Given the description of an element on the screen output the (x, y) to click on. 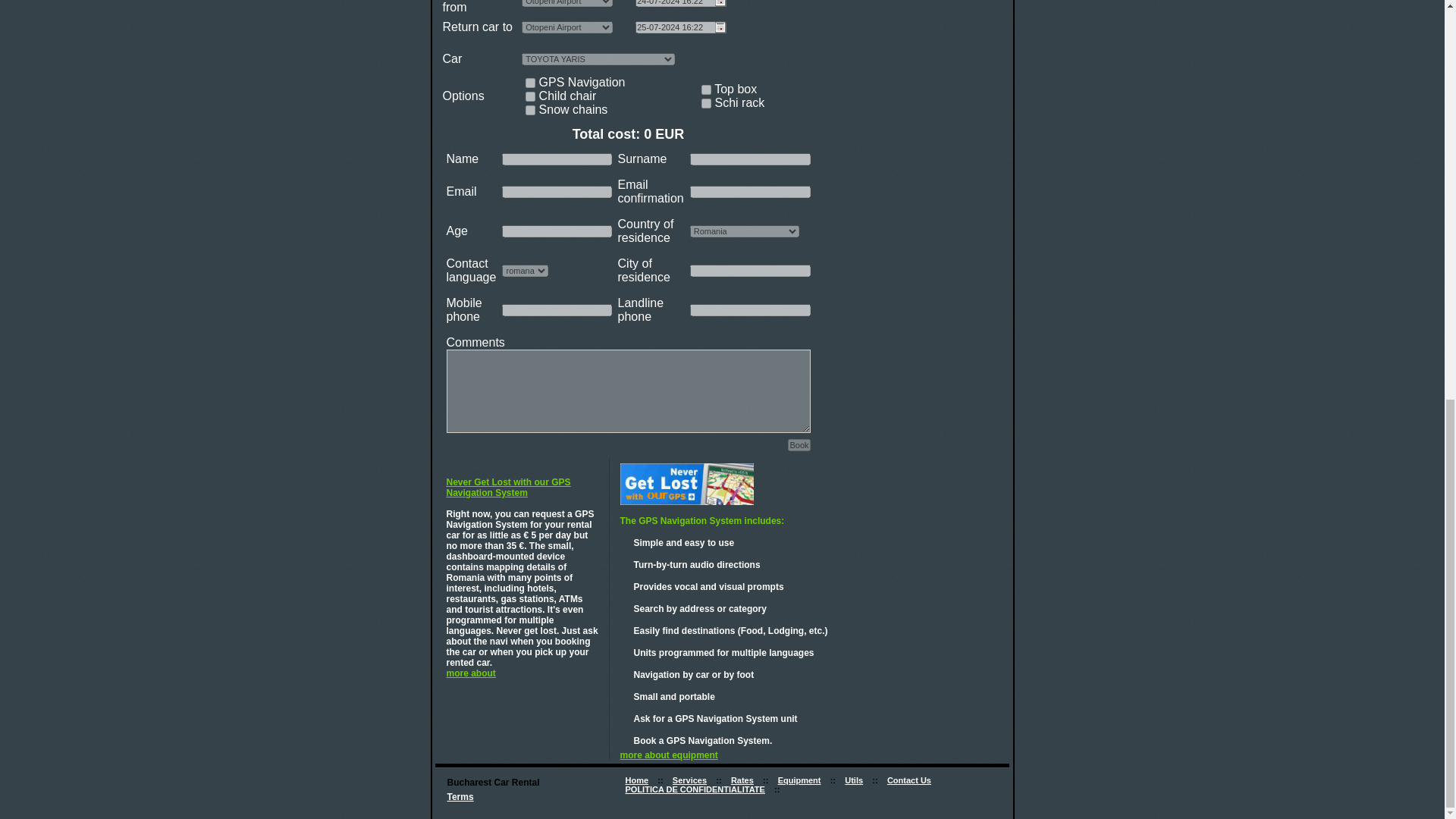
Services (689, 779)
25-07-2024 16:22 (680, 27)
Book (798, 444)
scauncopil (530, 96)
POLITICA DE CONFIDENTIALITATE (694, 788)
more about equipment (668, 755)
Book (798, 444)
car rental rates (742, 779)
more about (470, 673)
rent a car (635, 779)
schiuri (706, 103)
topbox (706, 90)
contact rent a car (908, 779)
Rates (742, 779)
car rentals (853, 779)
